Given the description of an element on the screen output the (x, y) to click on. 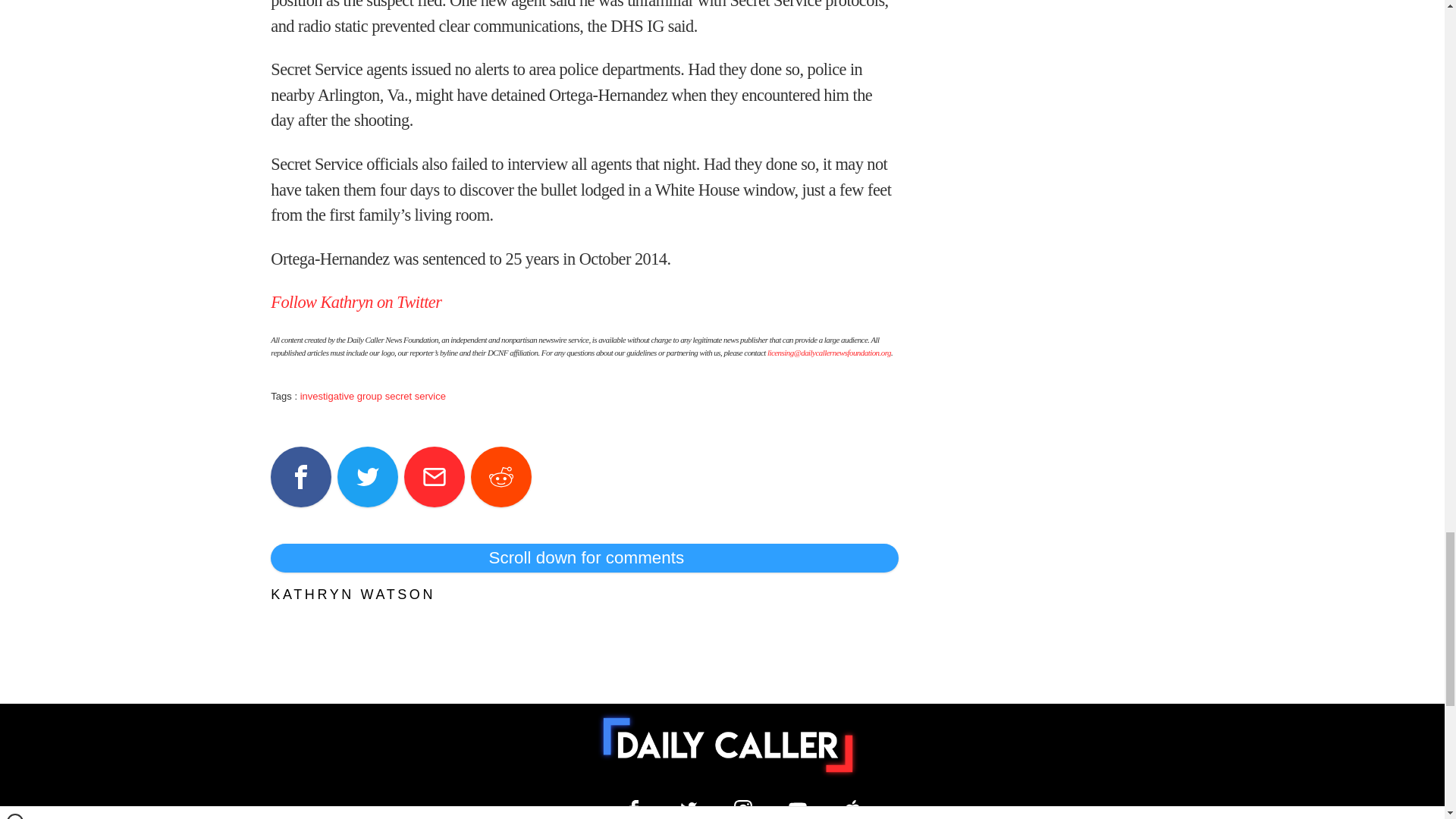
Daily Caller YouTube (852, 809)
Daily Caller Twitter (688, 809)
Scroll down for comments (584, 557)
Daily Caller YouTube (797, 809)
To home page (727, 745)
Daily Caller Instagram (742, 809)
Daily Caller Facebook (633, 809)
